Given the description of an element on the screen output the (x, y) to click on. 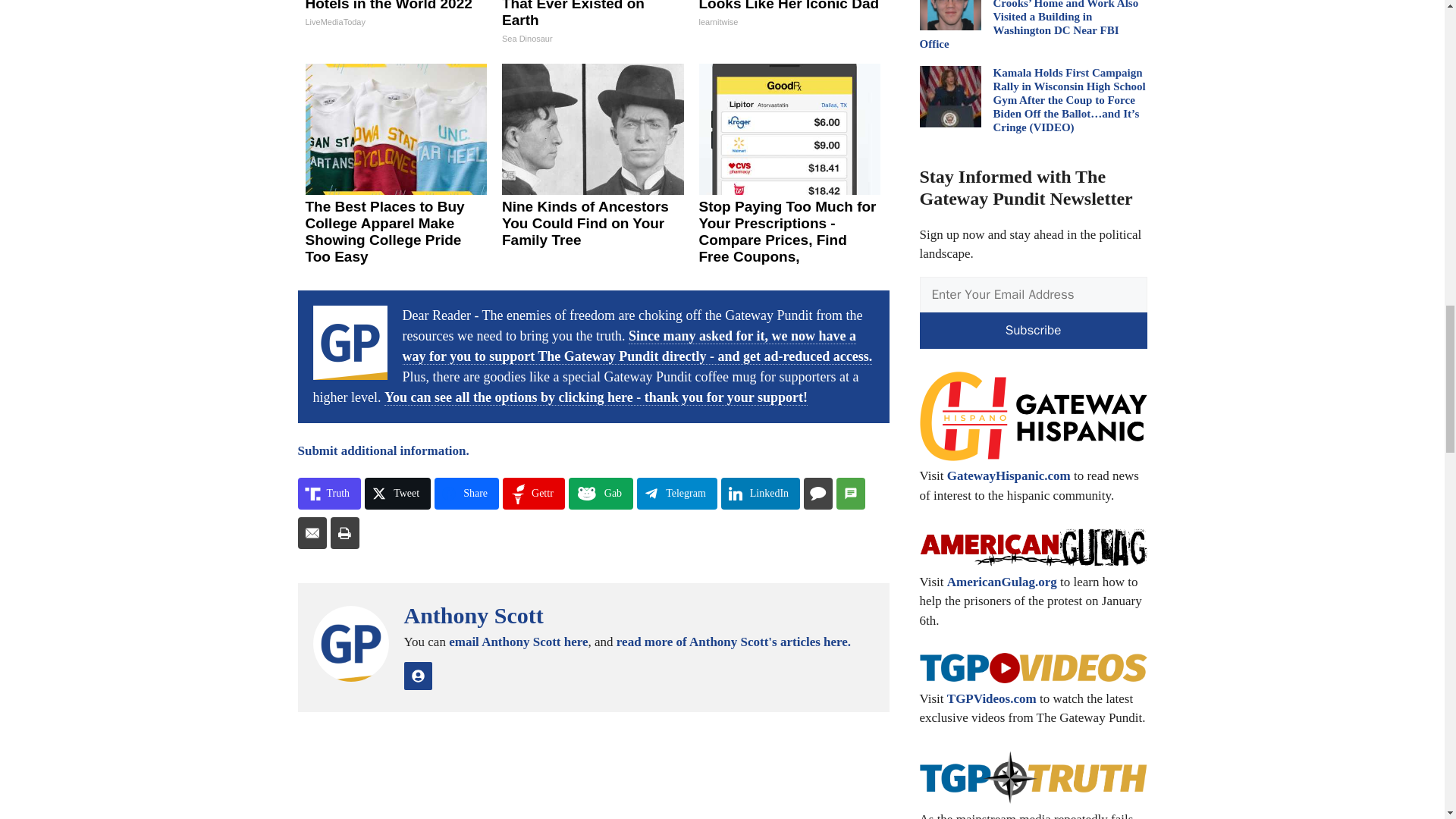
Subscribe (1032, 330)
